Given the description of an element on the screen output the (x, y) to click on. 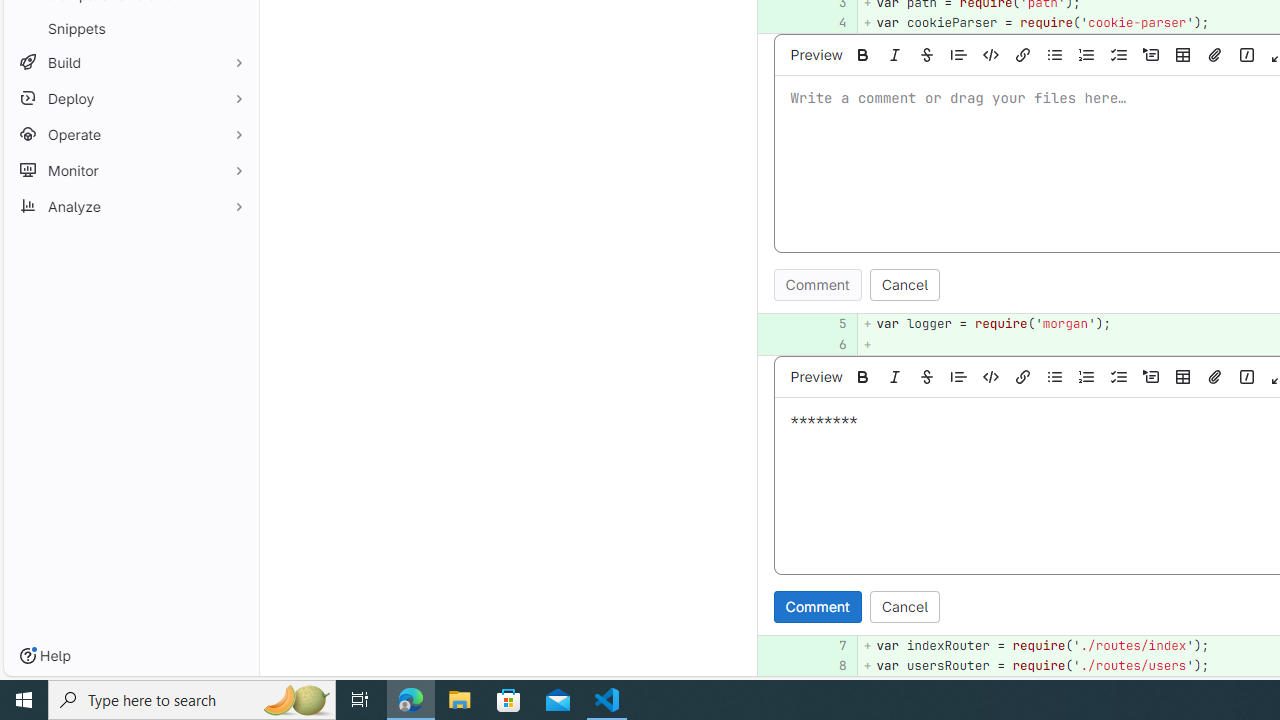
6 (831, 344)
Monitor (130, 170)
8 (829, 665)
Build (130, 62)
Operate (130, 134)
Class: s12 (757, 664)
Add a table (1183, 376)
Analyze (130, 206)
6 (829, 344)
Class: s16 gl-icon gl-button-icon  (1246, 376)
7 (829, 645)
Insert a quote (959, 376)
Comment (817, 605)
